Given the description of an element on the screen output the (x, y) to click on. 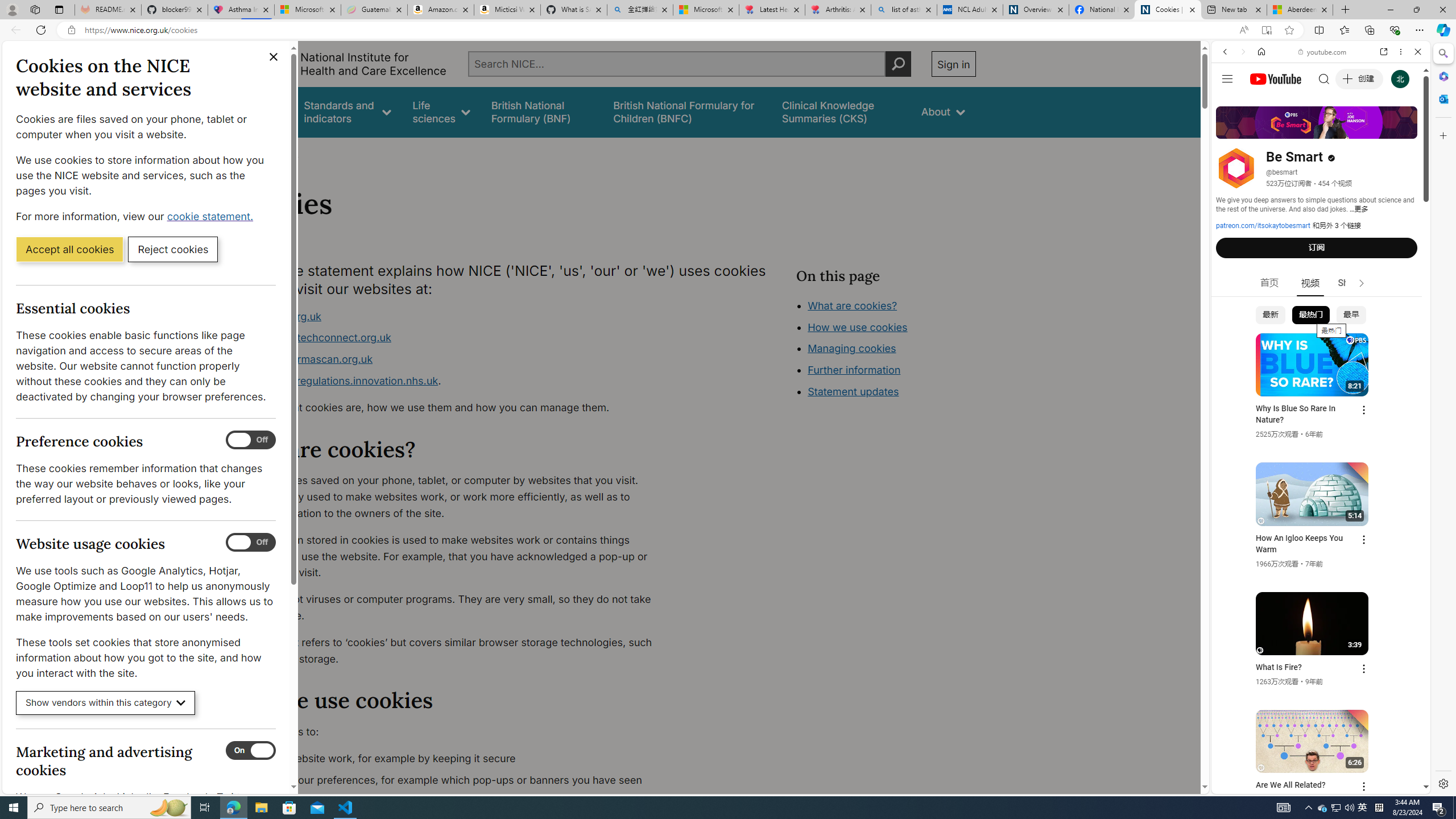
Life sciences (440, 111)
Home> (246, 152)
Website usage cookies (250, 542)
How we use cookies (896, 389)
